Given the description of an element on the screen output the (x, y) to click on. 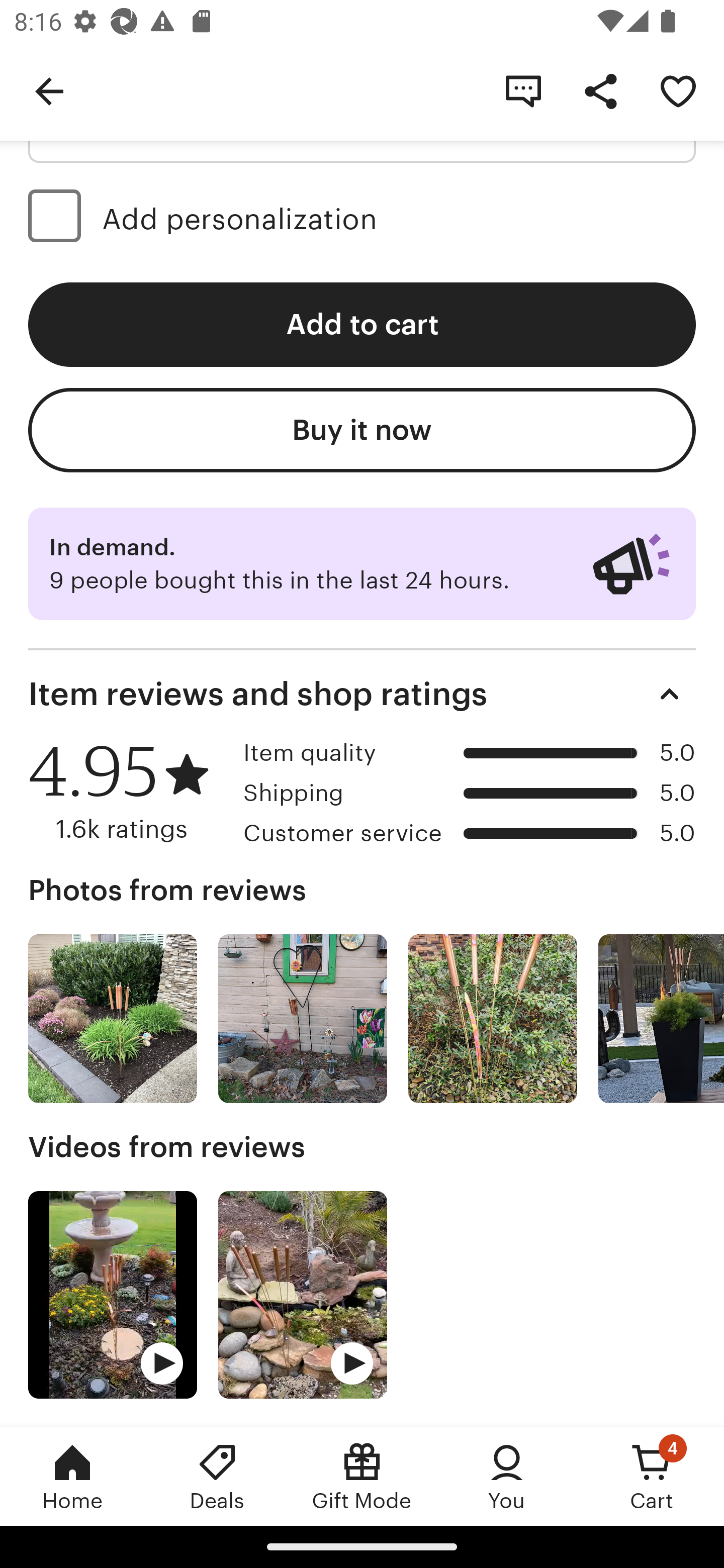
Navigate up (49, 90)
Contact shop (523, 90)
Share (600, 90)
Add personalization (optional) Add personalization (362, 219)
Add to cart (361, 324)
Buy it now (361, 429)
Item reviews and shop ratings (362, 693)
4.95 1.6k ratings (128, 791)
Photo from review (112, 1018)
Photo from review (302, 1018)
Photo from review (492, 1018)
Photo from review (661, 1018)
Deals (216, 1475)
Gift Mode (361, 1475)
You (506, 1475)
Cart, 4 new notifications Cart (651, 1475)
